Given the description of an element on the screen output the (x, y) to click on. 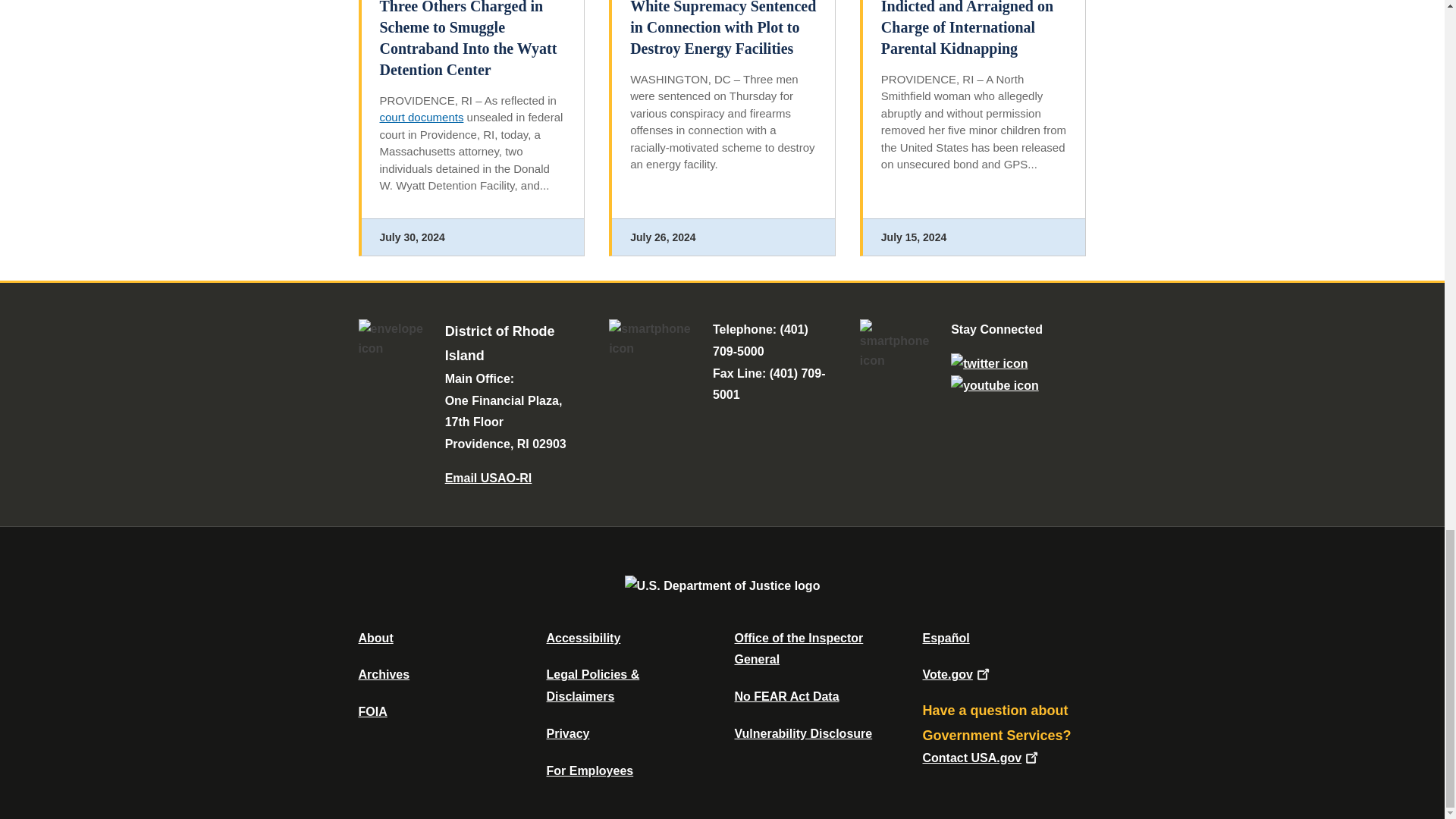
Department of Justice Archive (383, 674)
Data Posted Pursuant To The No Fear Act (785, 696)
Office of Information Policy (372, 711)
Accessibility Statement (583, 637)
For Employees (589, 770)
About DOJ (375, 637)
Legal Policies and Disclaimers (592, 685)
